Given the description of an element on the screen output the (x, y) to click on. 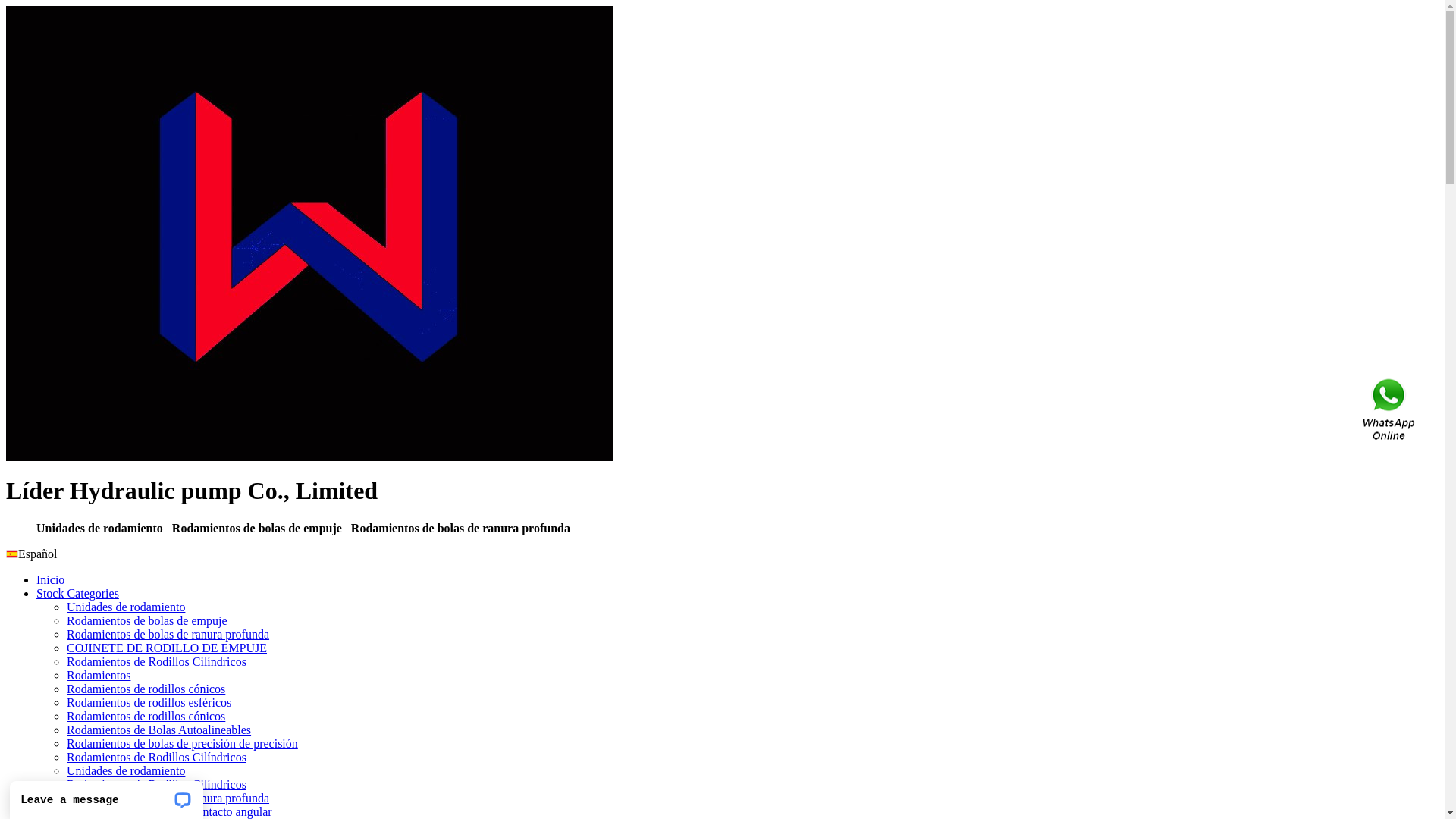
Rodamientos de bolas de ranura profunda Element type: text (167, 797)
Rodamientos Element type: text (98, 674)
Rodamientos de bolas de empuje Element type: text (146, 620)
Rodamientos de bolas de contacto angular Element type: text (169, 811)
COJINETE DE RODILLO DE EMPUJE Element type: text (166, 647)
Rodamientos de bolas de ranura profunda Element type: text (167, 633)
Unidades de rodamiento Element type: text (125, 770)
Stock Categories Element type: text (77, 592)
Inicio Element type: text (50, 579)
Unidades de rodamiento Element type: text (125, 606)
Rodamientos de Bolas Autoalineables Element type: text (158, 729)
Contact Us Element type: hover (1389, 409)
